Given the description of an element on the screen output the (x, y) to click on. 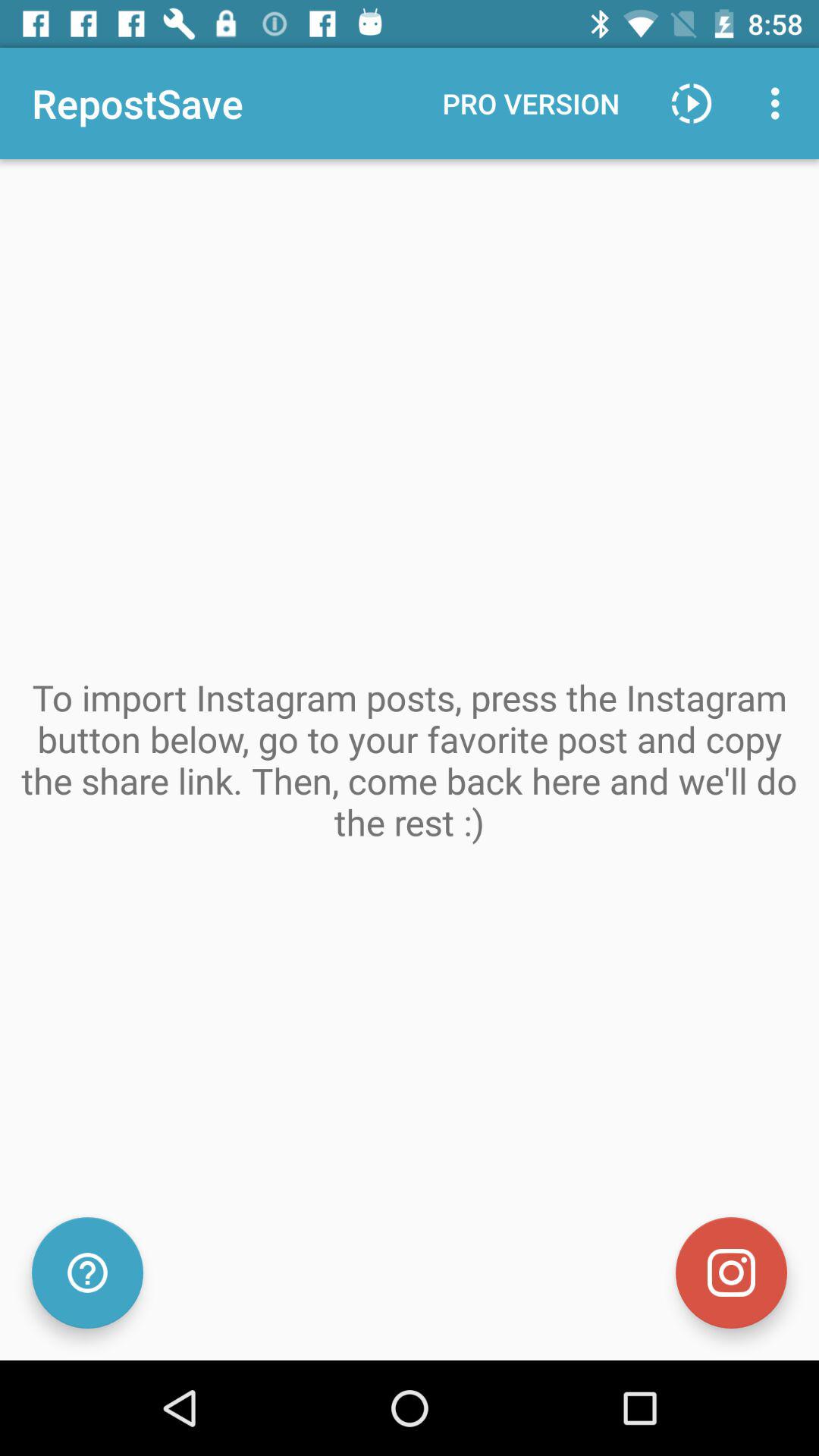
launch icon at the bottom left corner (87, 1272)
